Given the description of an element on the screen output the (x, y) to click on. 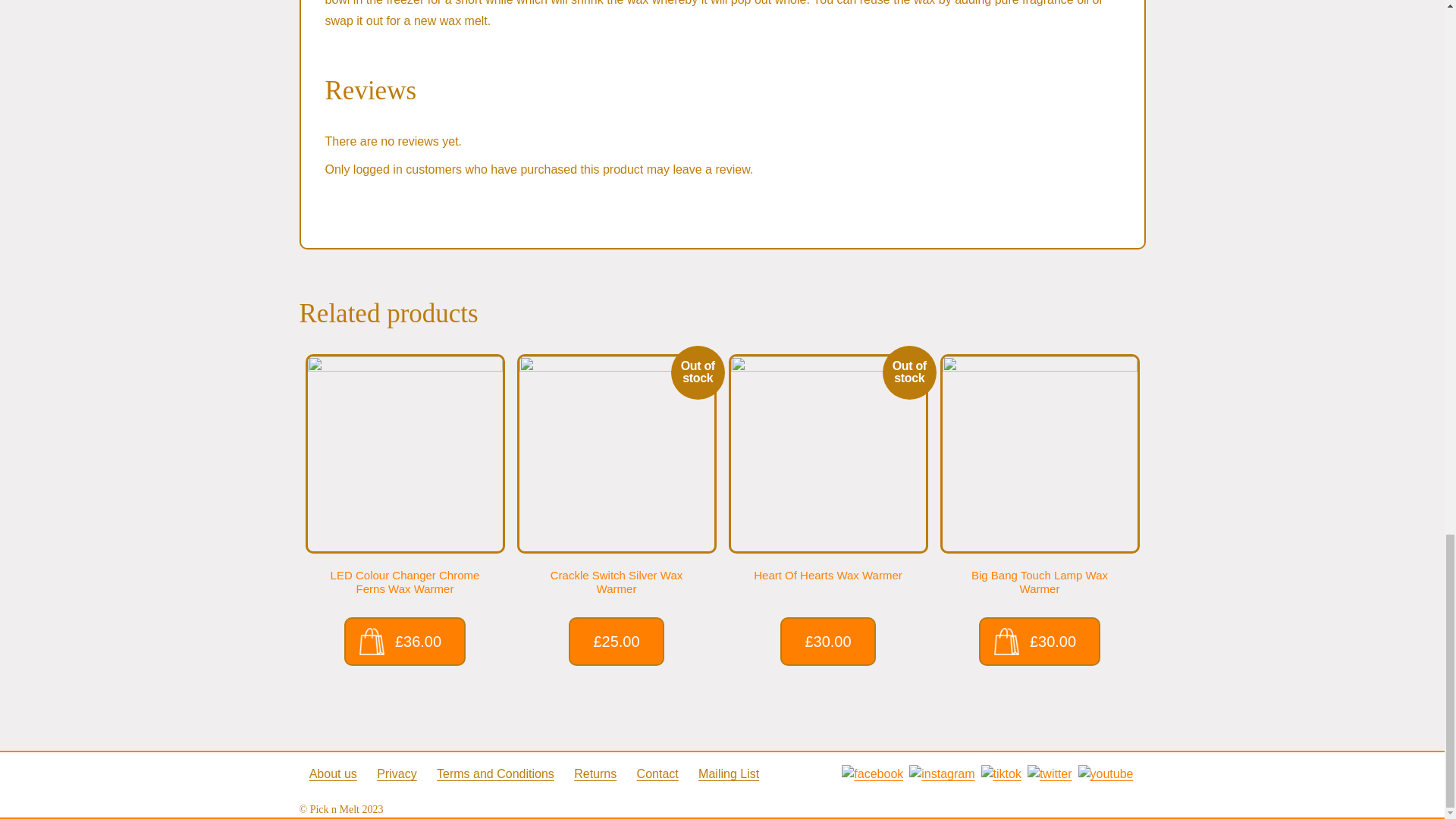
youtube (1106, 773)
facebook (871, 773)
tiktok (1001, 773)
instagram (941, 773)
twitter (1049, 773)
